Given the description of an element on the screen output the (x, y) to click on. 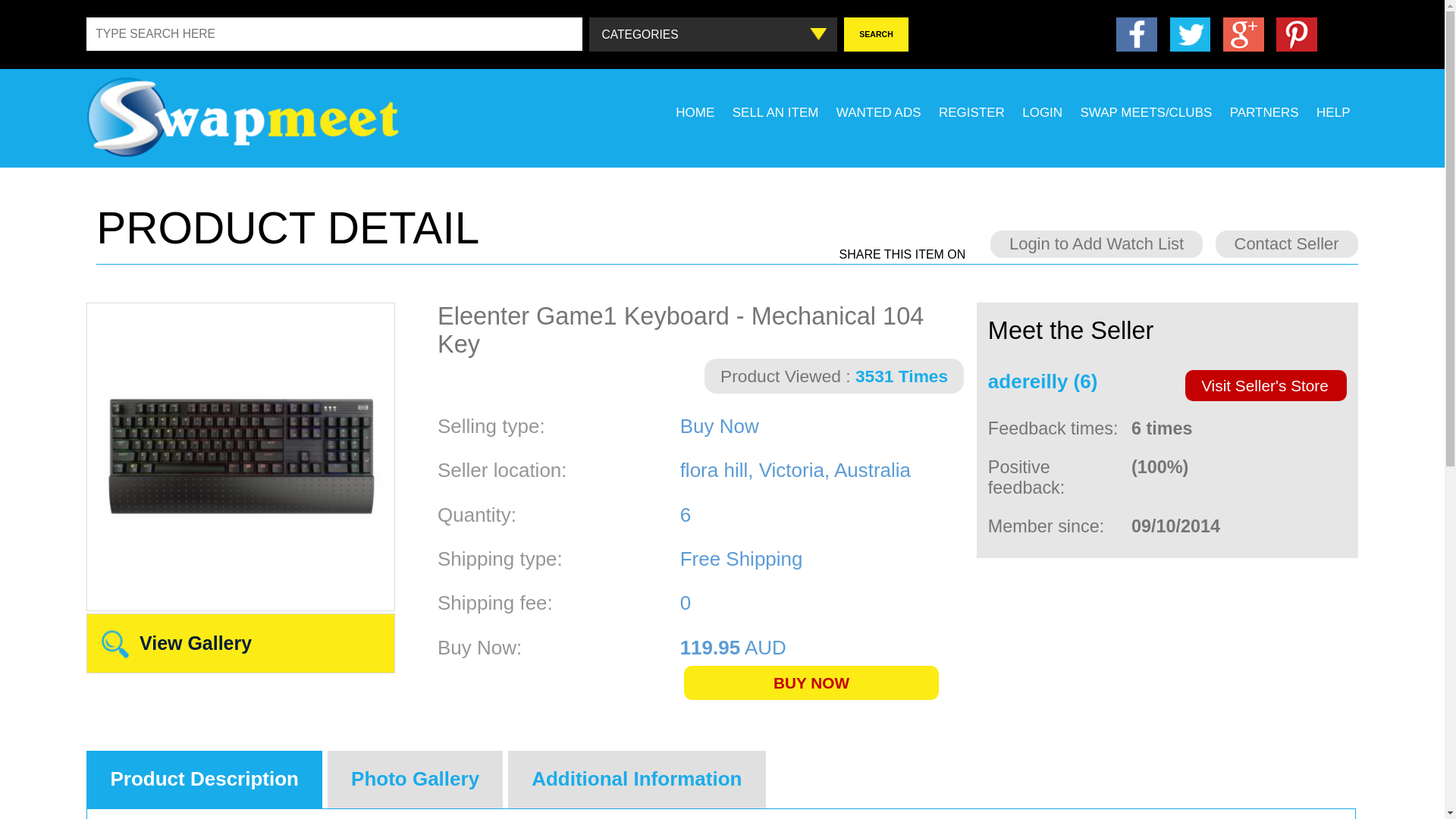
adereilly Element type: text (1028, 381)
View Gallery Element type: text (195, 642)
Login to Add Watch List Element type: text (1096, 243)
AUD Element type: text (765, 647)
SELL AN ITEM Element type: text (775, 112)
BUY NOW Element type: text (811, 682)
REGISTER Element type: text (971, 112)
SWAP MEETS/CLUBS Element type: text (1145, 112)
HELP Element type: text (1333, 112)
Visit Seller's Store Element type: text (1265, 385)
Product Description Element type: text (204, 778)
PARTNERS Element type: text (1264, 112)
LOGIN Element type: text (1042, 112)
Additional Information Element type: text (636, 778)
Search Element type: text (876, 34)
Photo Gallery Element type: text (414, 778)
HOME Element type: text (694, 112)
WANTED ADS Element type: text (878, 112)
Contact Seller Element type: text (1285, 243)
